Given the description of an element on the screen output the (x, y) to click on. 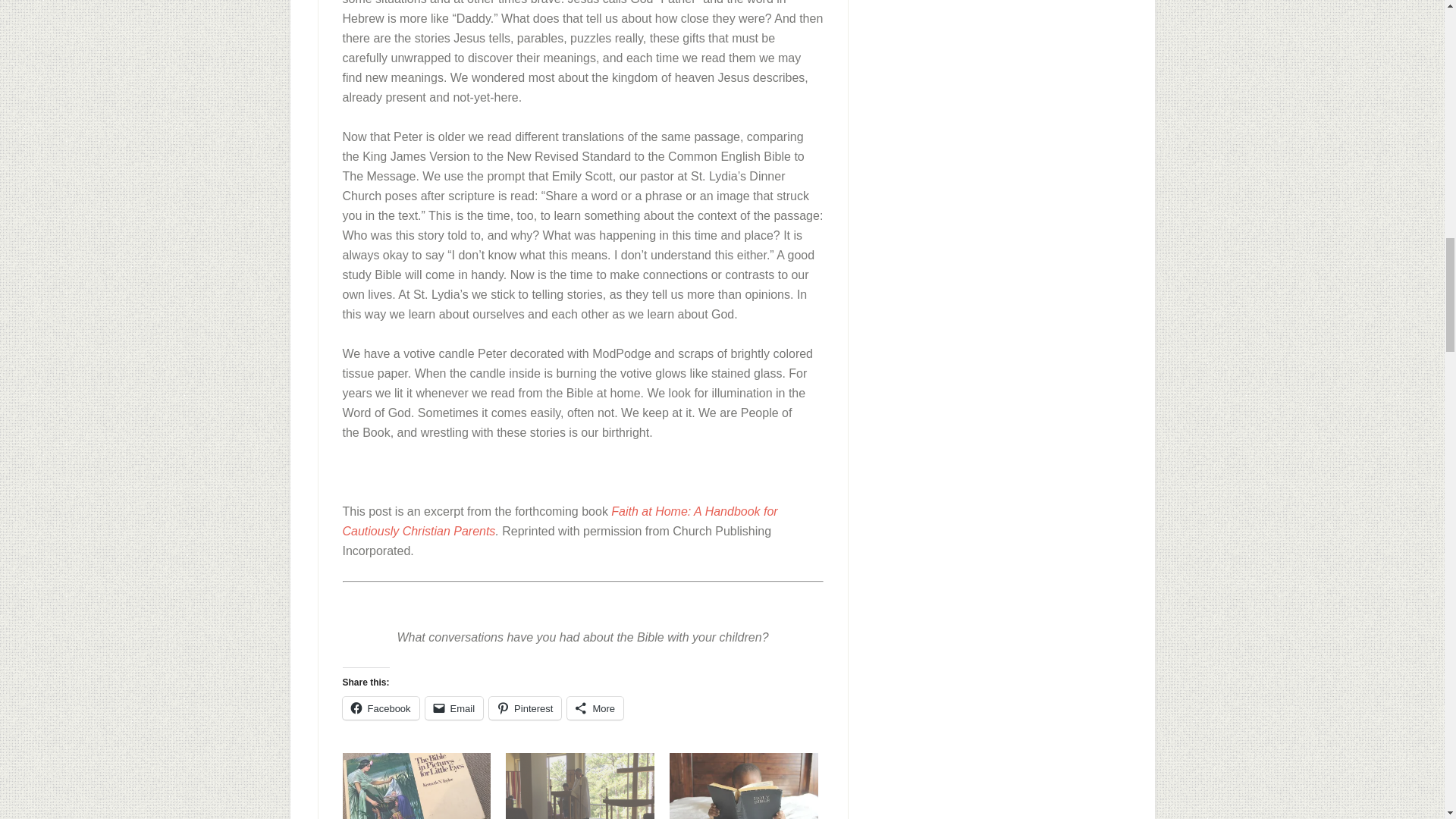
More (595, 707)
Click to share on Pinterest (524, 707)
Click to email a link to a friend (454, 707)
Facebook (380, 707)
Faith at Home: A Handbook for Cautiously Christian Parents (559, 521)
Seven Steps toward Reading the Bible with Kids (743, 785)
Email (454, 707)
Click to share on Facebook (380, 707)
Pinterest (524, 707)
